Given the description of an element on the screen output the (x, y) to click on. 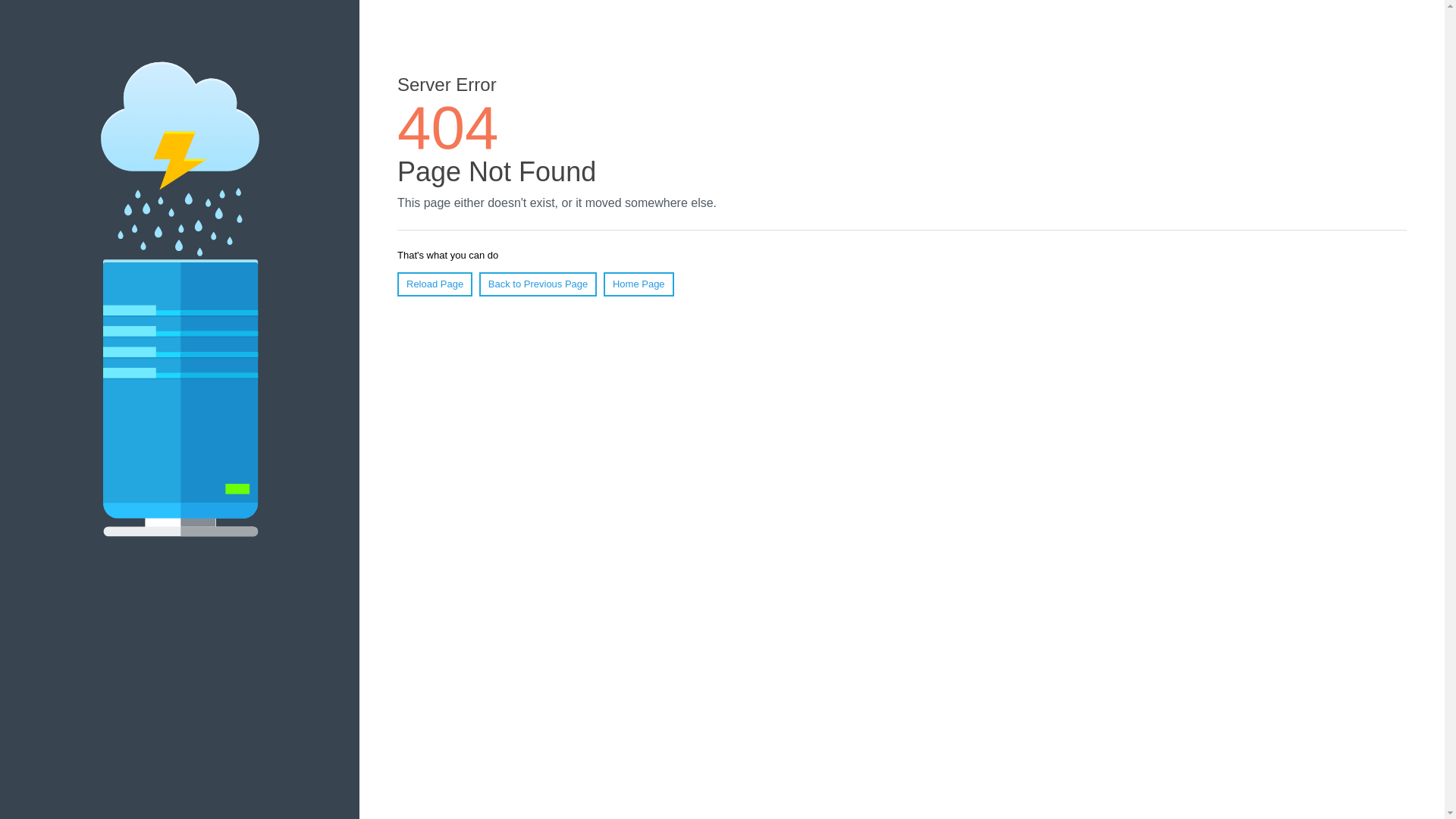
Back to Previous Page Element type: text (538, 284)
Reload Page Element type: text (434, 284)
Home Page Element type: text (638, 284)
